Given the description of an element on the screen output the (x, y) to click on. 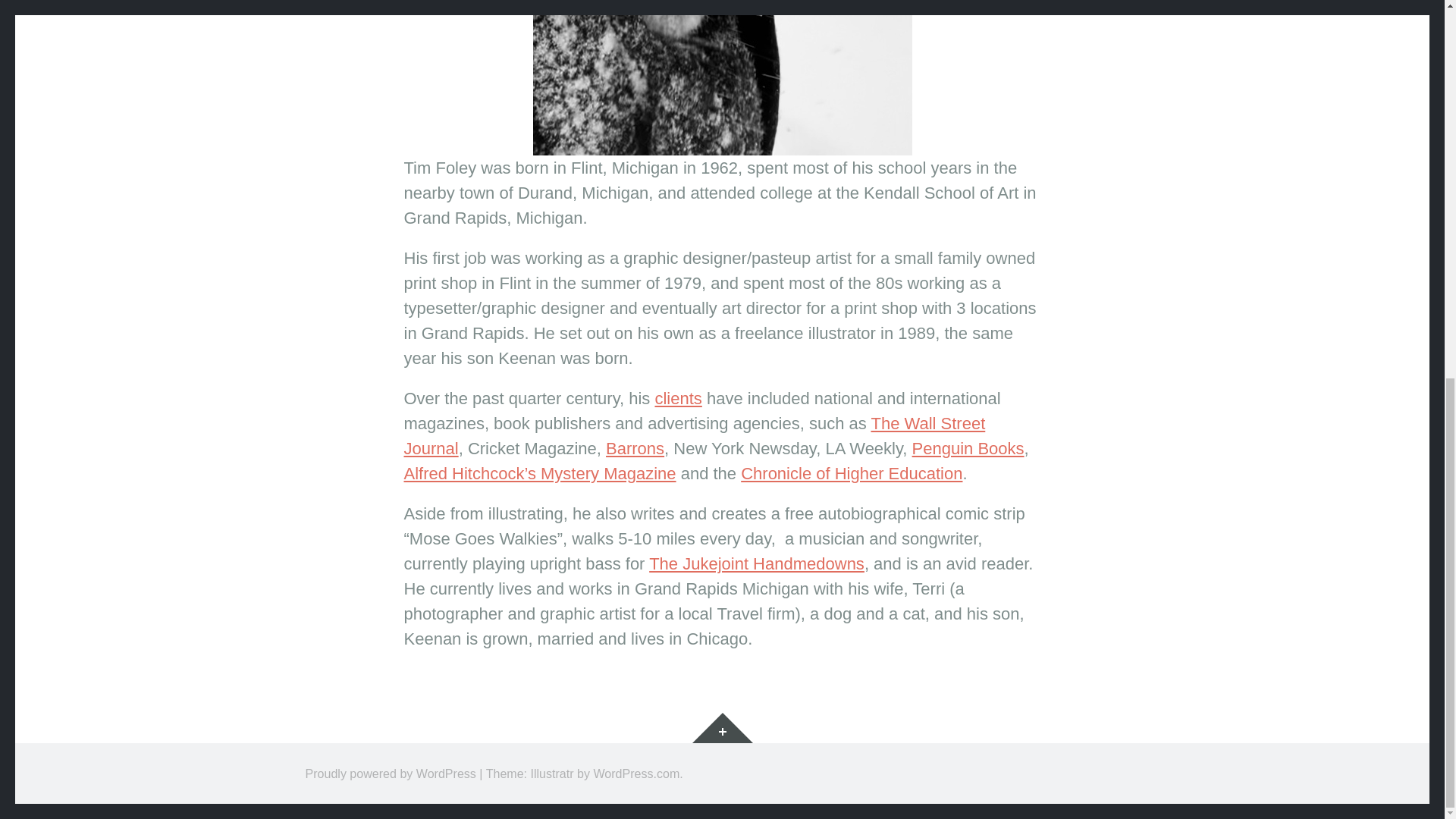
clients (677, 398)
Wall Street Journal (694, 435)
Penguin Young Readers (968, 447)
Jukejoint Handmedowns (756, 563)
Barrons (634, 447)
The Wall Street Journal (694, 435)
Clients (677, 398)
Chronicle of Higher Education (851, 473)
